Given the description of an element on the screen output the (x, y) to click on. 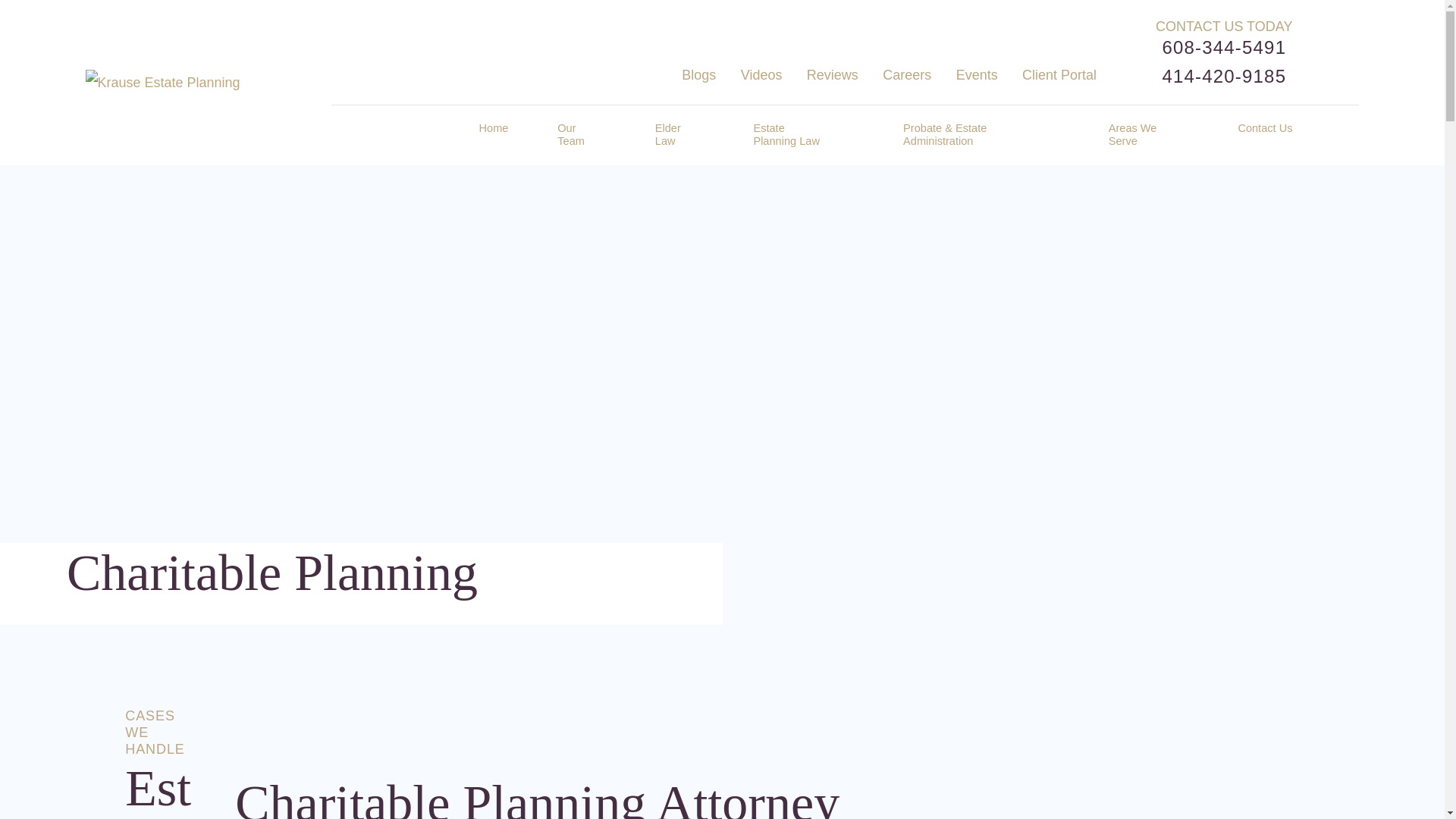
Videos (762, 74)
Reviews (832, 74)
Krause Estate Planning (162, 82)
Careers (906, 74)
414-420-9185 (1224, 76)
Our Team (571, 135)
608-344-5491 (1224, 47)
Events (976, 74)
Blogs (698, 74)
Open the accessibility options menu (1423, 798)
Client Portal (1059, 74)
Elder Law (669, 135)
Estate Planning Law (788, 135)
Home (493, 135)
